Given the description of an element on the screen output the (x, y) to click on. 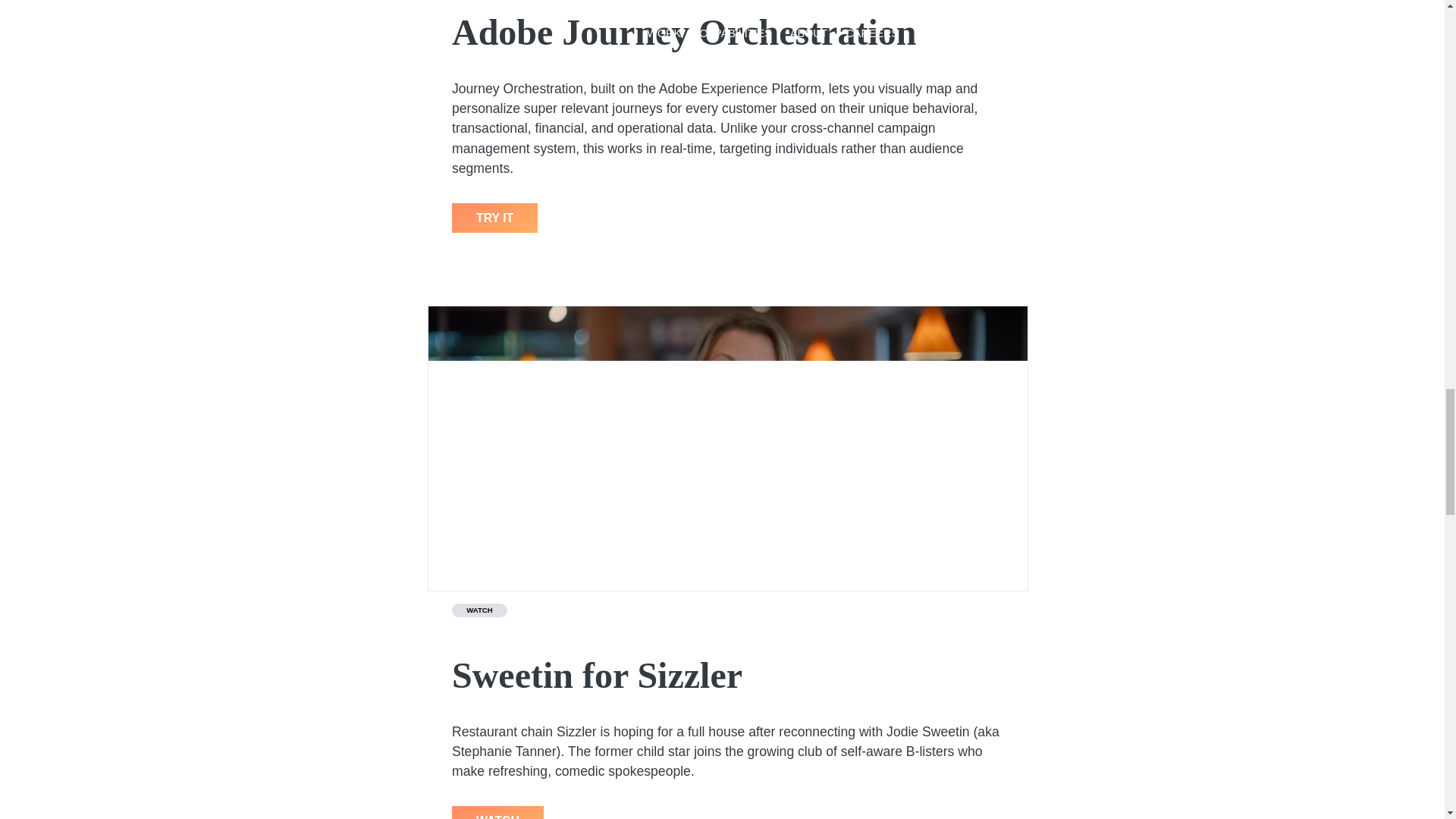
WATCH (497, 812)
WATCH (478, 610)
TRY IT (494, 218)
